Given the description of an element on the screen output the (x, y) to click on. 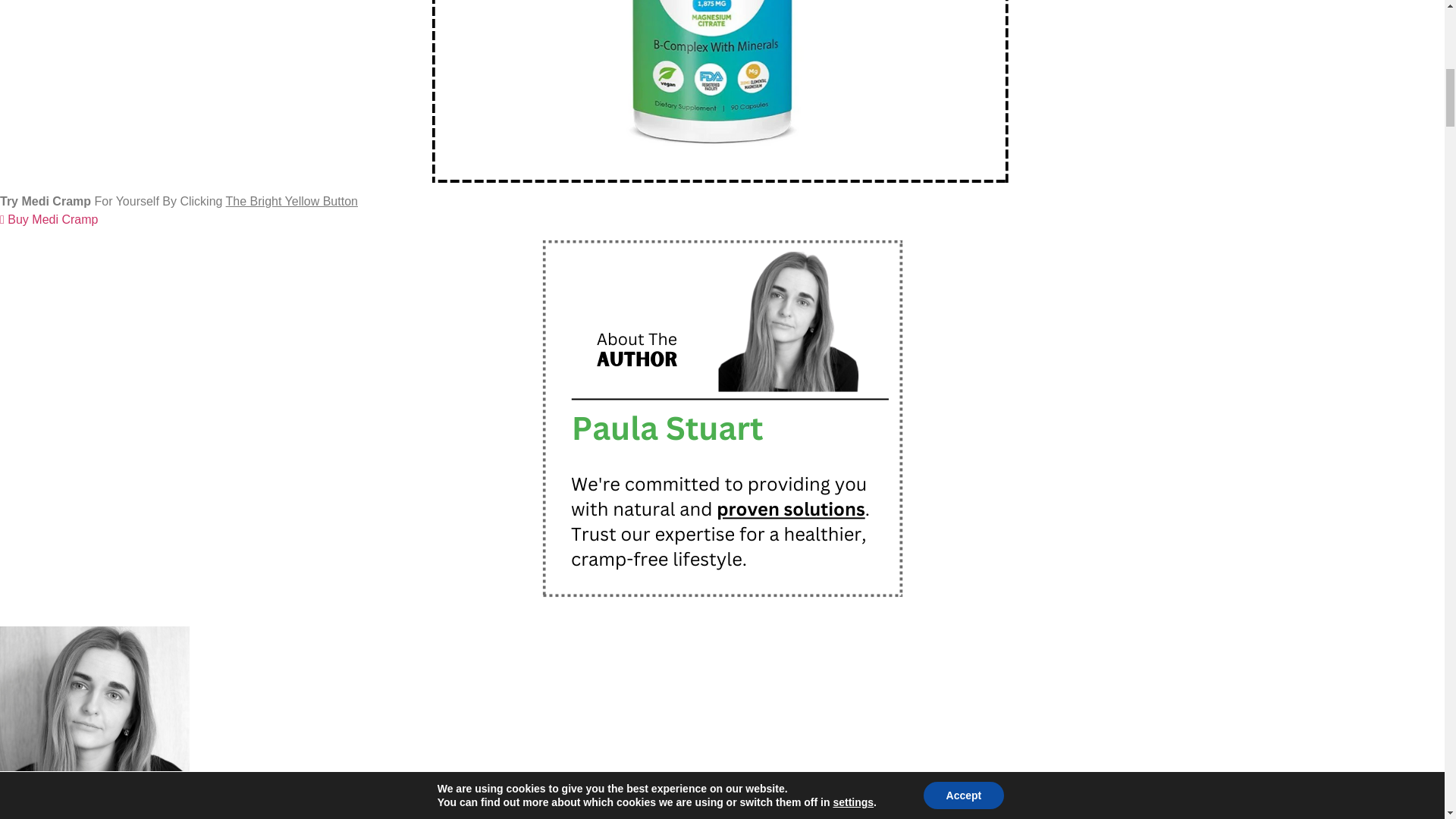
Buy Medi Cramp (48, 219)
Click to visit the website (48, 219)
